Given the description of an element on the screen output the (x, y) to click on. 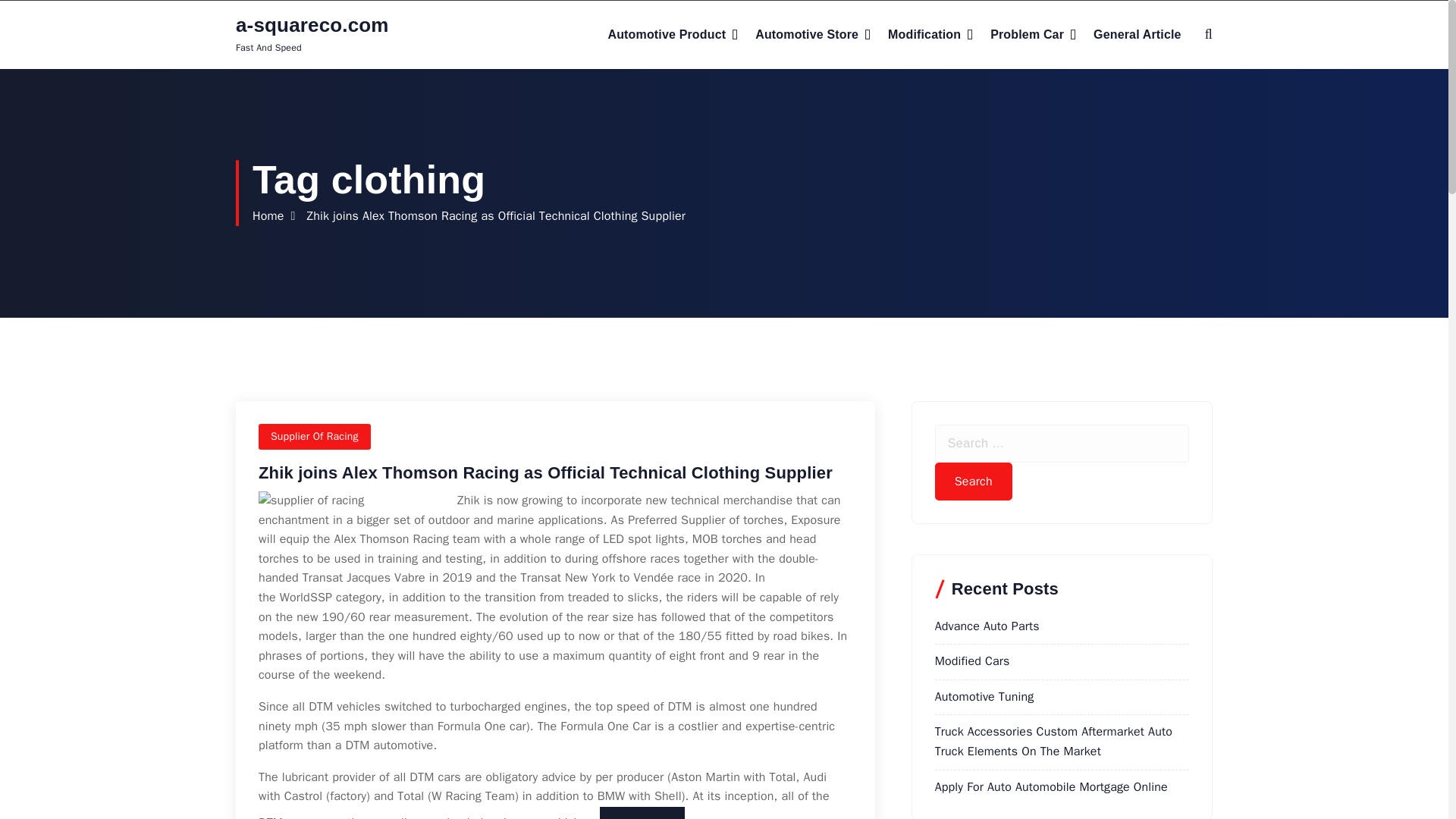
Automotive Product (672, 34)
Automotive Store (812, 34)
a-squareco.com (311, 24)
Search (972, 481)
Automotive Store (812, 34)
Search (972, 481)
Automotive Product (672, 34)
General Article (1136, 34)
Modification (930, 34)
Modification (930, 34)
